Given the description of an element on the screen output the (x, y) to click on. 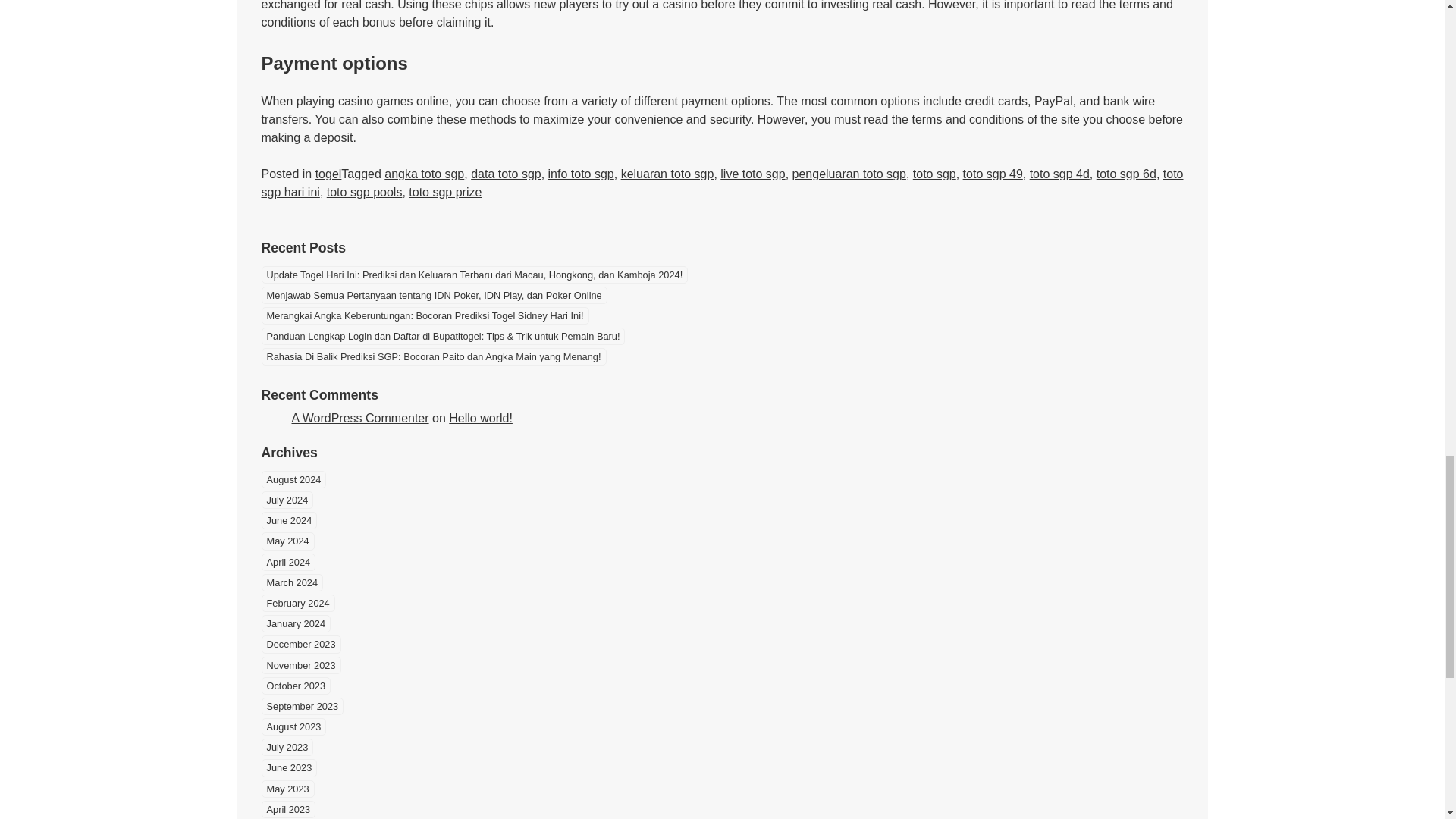
toto sgp pools (364, 192)
angka toto sgp (424, 173)
toto sgp 6d (1126, 173)
toto sgp prize (445, 192)
keluaran toto sgp (667, 173)
live toto sgp (752, 173)
toto sgp 4d (1059, 173)
pengeluaran toto sgp (848, 173)
